Given the description of an element on the screen output the (x, y) to click on. 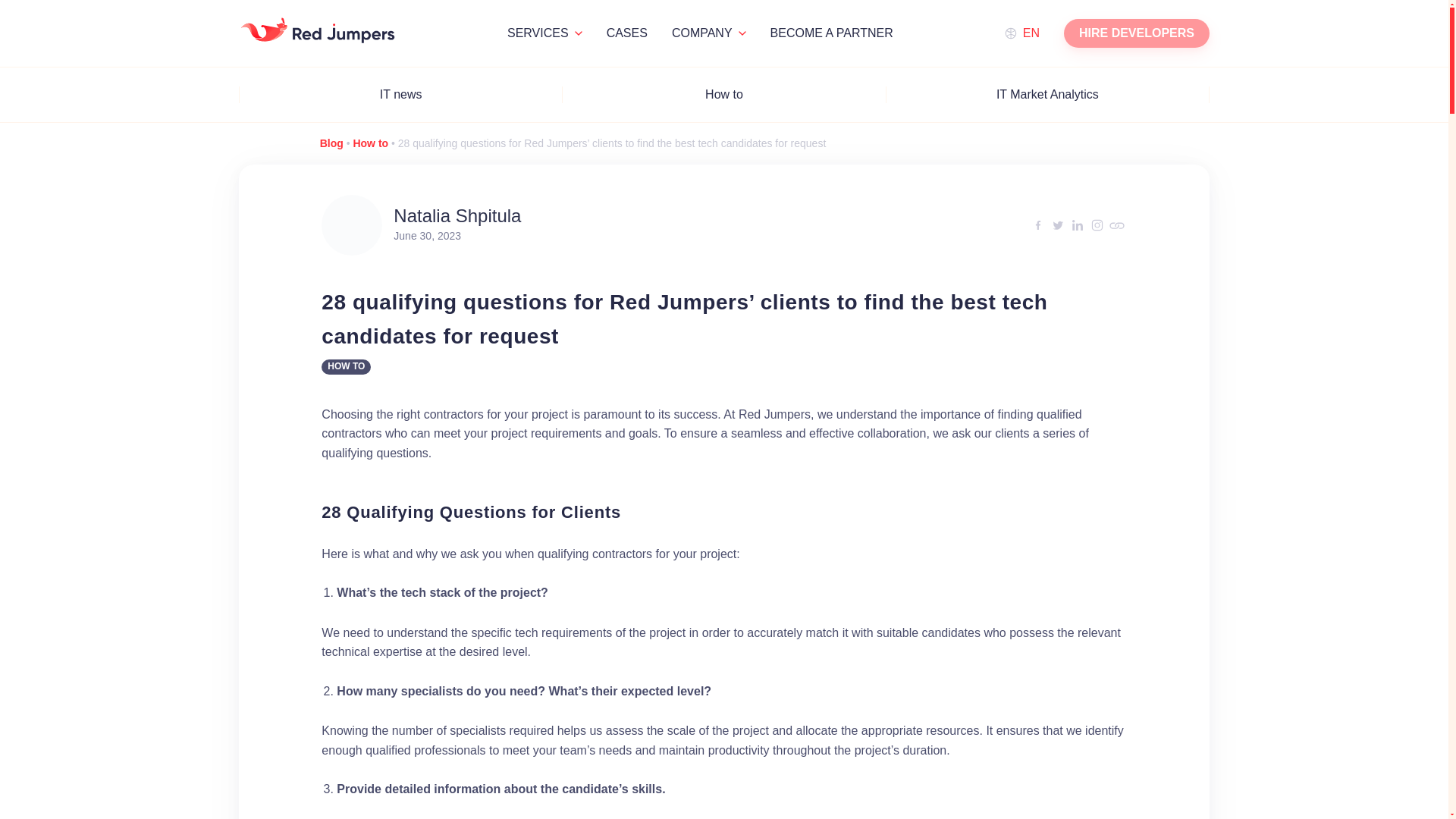
Facebook (1037, 225)
Instagram (1097, 225)
COMPANY (708, 33)
Blog (331, 143)
How to (723, 93)
BECOME A PARTNER (831, 32)
Red Jumpers logo (317, 30)
SERVICES (544, 33)
Linkedin (1077, 225)
IT news (401, 93)
